Given the description of an element on the screen output the (x, y) to click on. 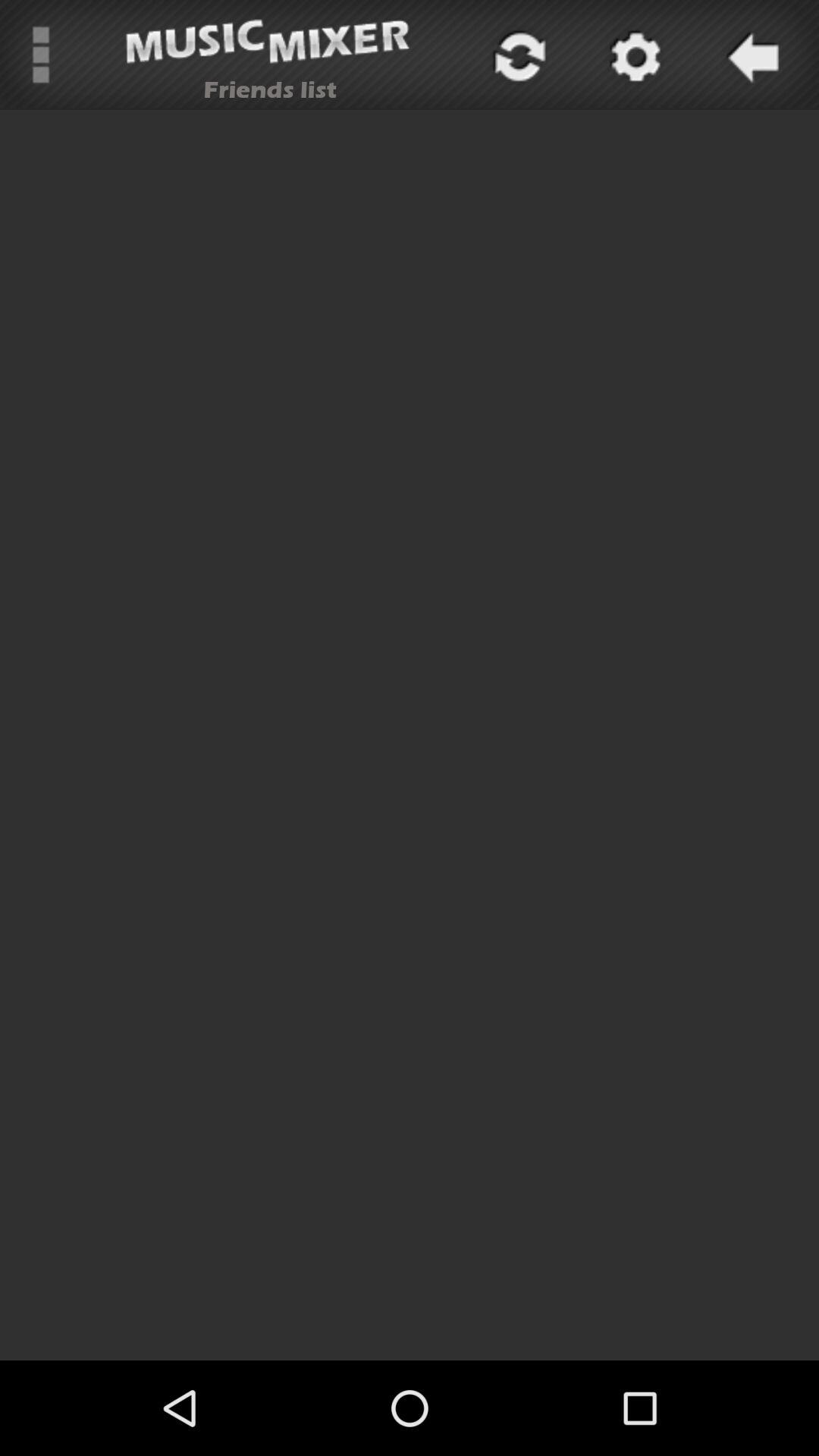
settings (633, 54)
